Given the description of an element on the screen output the (x, y) to click on. 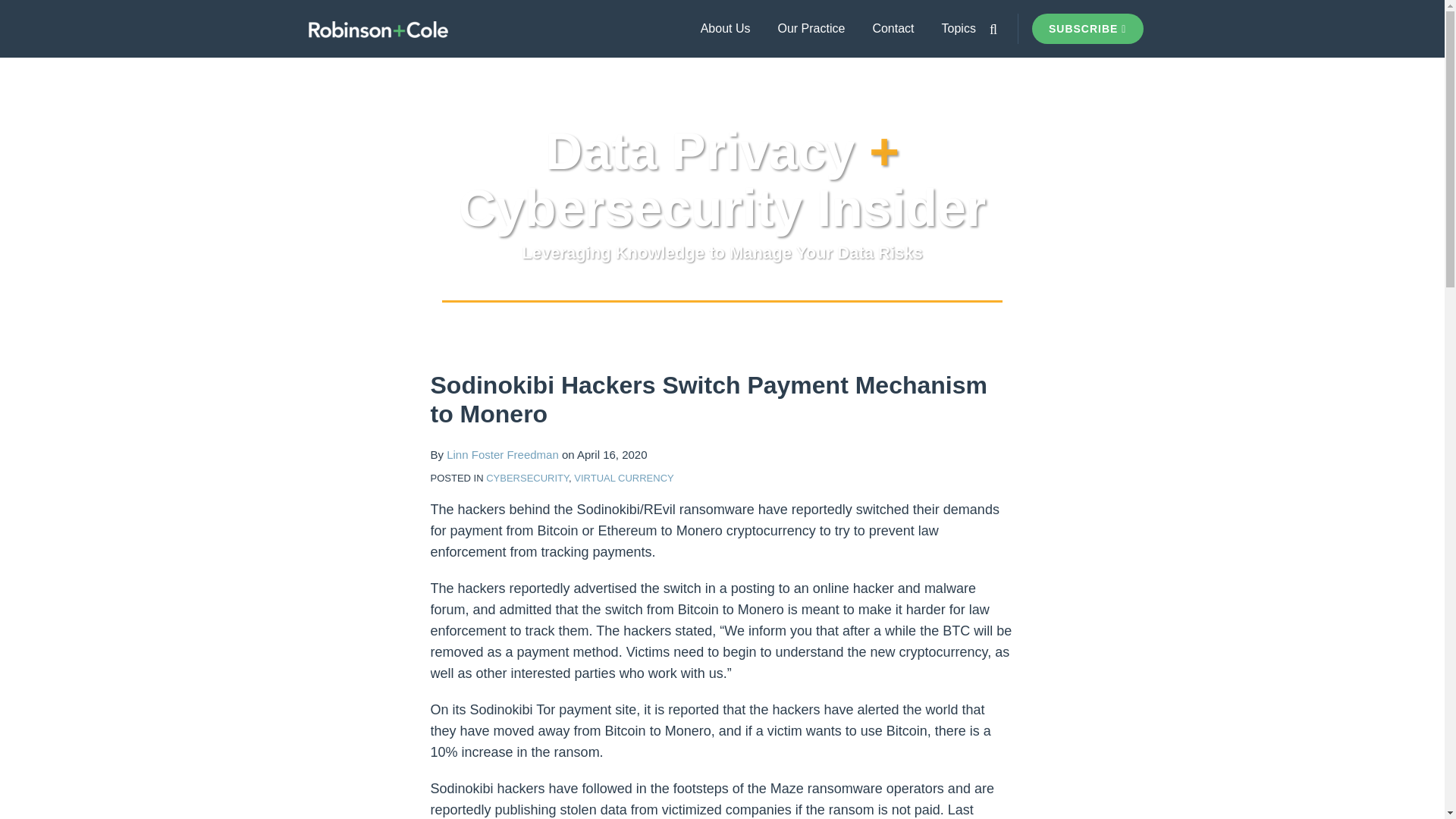
Our Practice (810, 28)
CYBERSECURITY (527, 478)
Linn Foster Freedman (502, 454)
About Us (725, 28)
Topics (958, 28)
VIRTUAL CURRENCY (622, 478)
Contact (893, 28)
SUBSCRIBE (1087, 28)
